Given the description of an element on the screen output the (x, y) to click on. 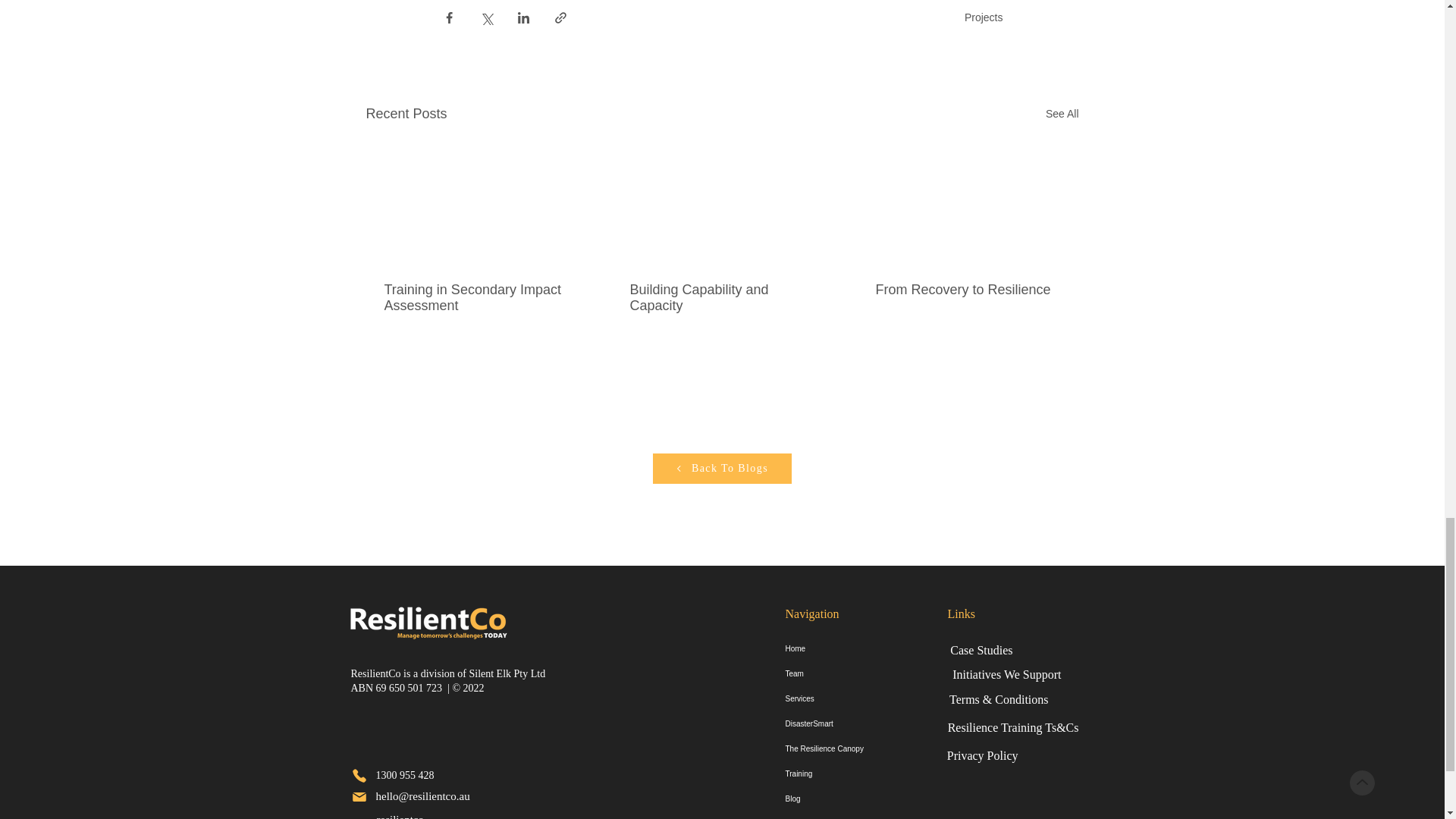
From Recovery to Resilience (966, 289)
See All (1061, 114)
1300 955 428 (403, 775)
Building Capability and Capacity (720, 297)
Team (843, 673)
Projects (983, 16)
resilientco (399, 816)
Home (843, 648)
Training in Secondary Impact Assessment (475, 297)
Back To Blogs (721, 468)
Original on Transparent.png (426, 619)
